Given the description of an element on the screen output the (x, y) to click on. 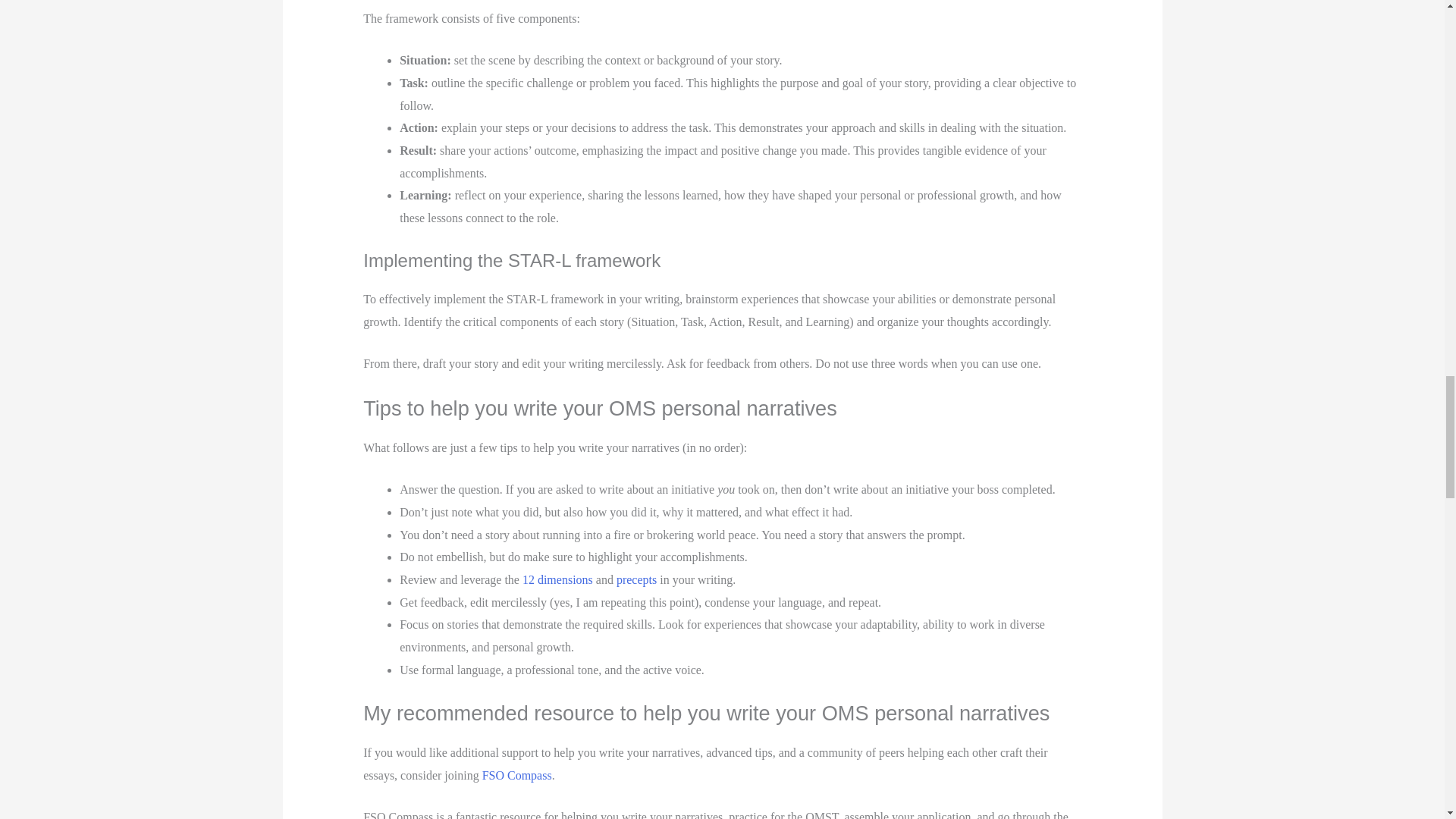
precepts (635, 579)
FSO Compass (516, 775)
12 dimensions (557, 579)
